Given the description of an element on the screen output the (x, y) to click on. 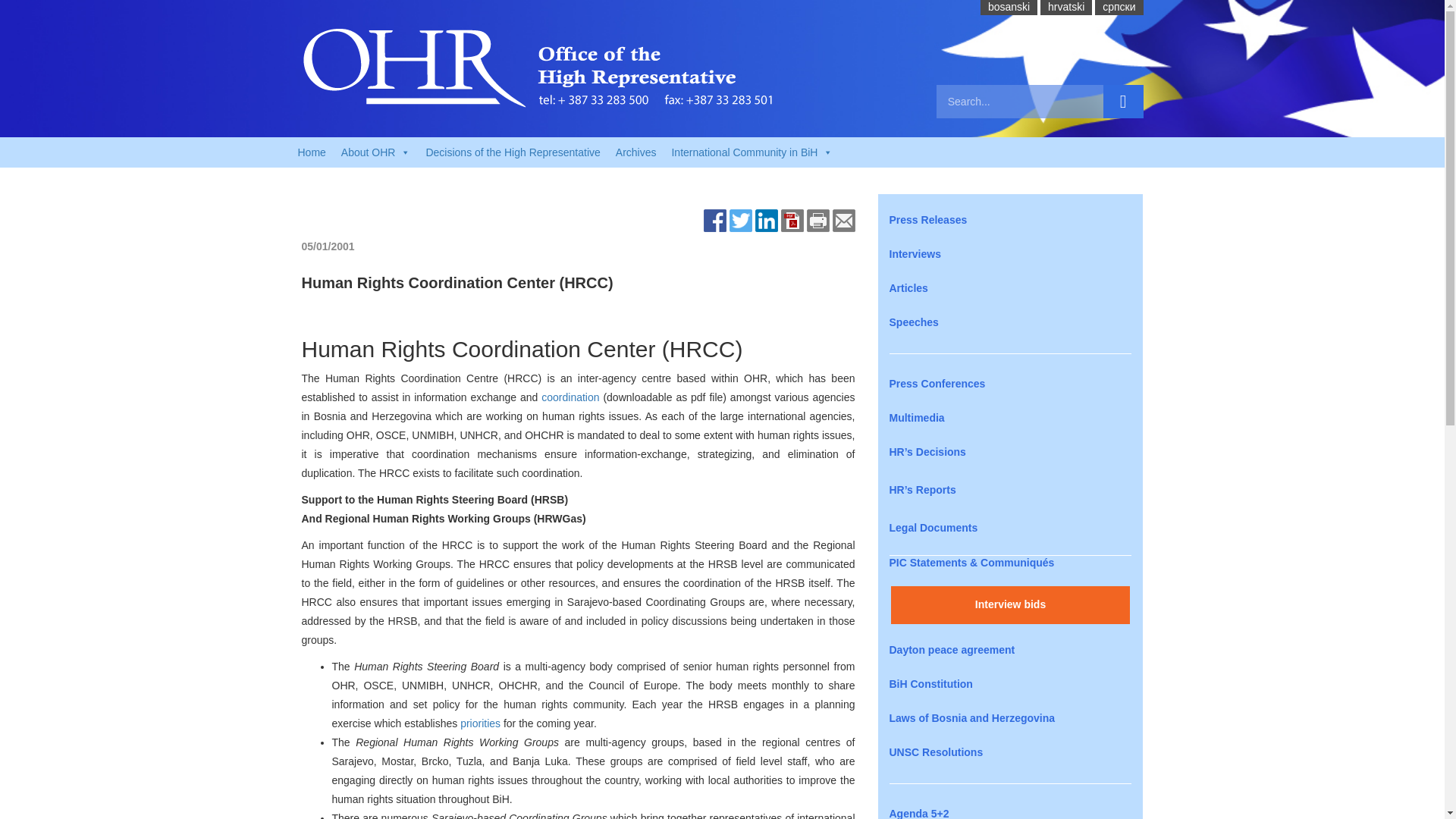
Decisions of the High Representative (512, 152)
Share on Facebook! (714, 219)
Share on Twitter! (740, 219)
PDF (791, 219)
About OHR (376, 152)
hrvatski (1066, 6)
Print (817, 219)
Send by email (844, 219)
Archives (635, 152)
Share on LinkedIn! (766, 219)
bosanski (1007, 6)
International Community in BiH (751, 152)
Search (1122, 101)
Home (311, 152)
